Given the description of an element on the screen output the (x, y) to click on. 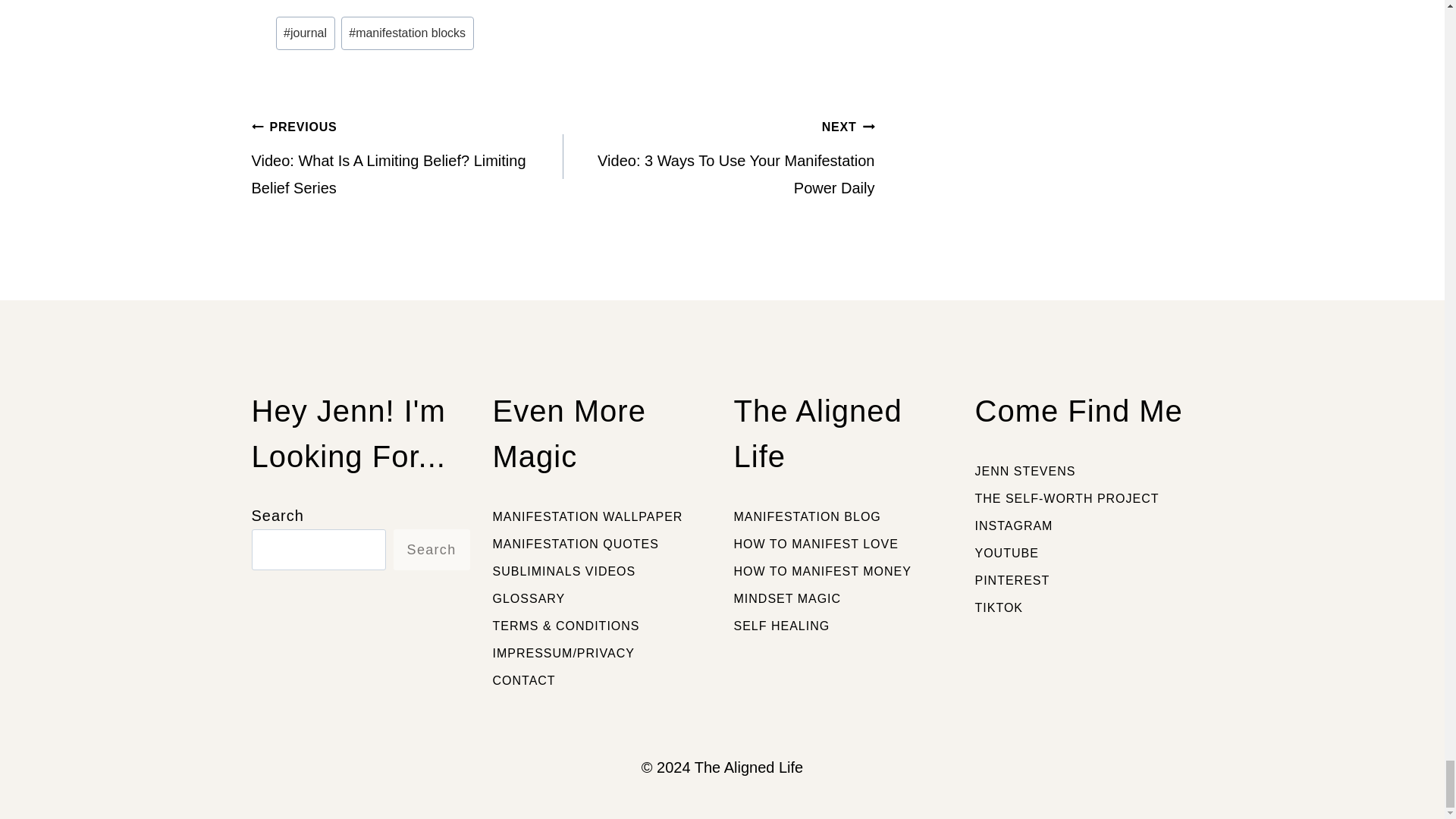
manifestation blocks (407, 32)
journal (305, 32)
